Given the description of an element on the screen output the (x, y) to click on. 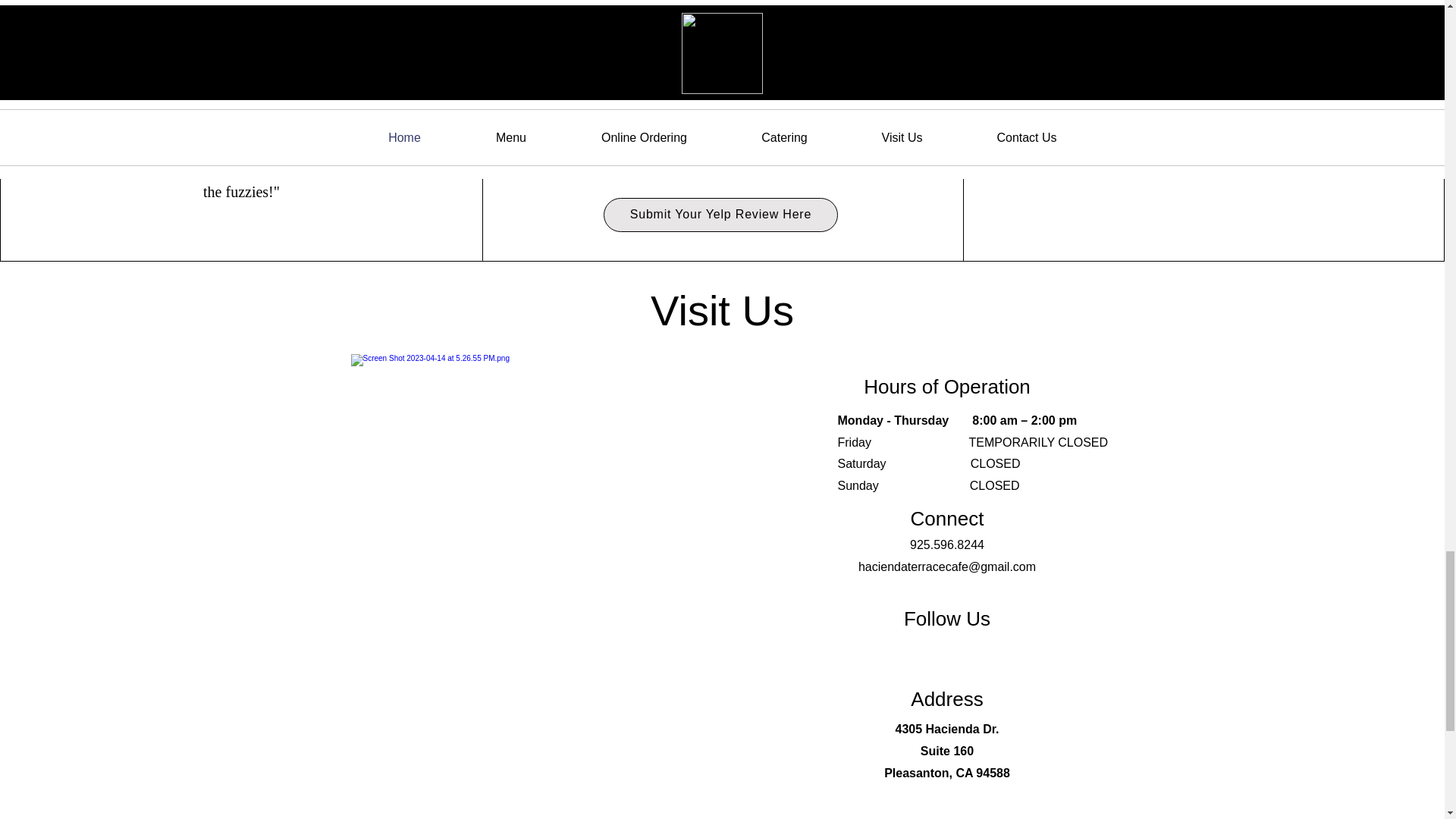
Submit Your Yelp Review Here (721, 214)
Visit Us (721, 310)
